Given the description of an element on the screen output the (x, y) to click on. 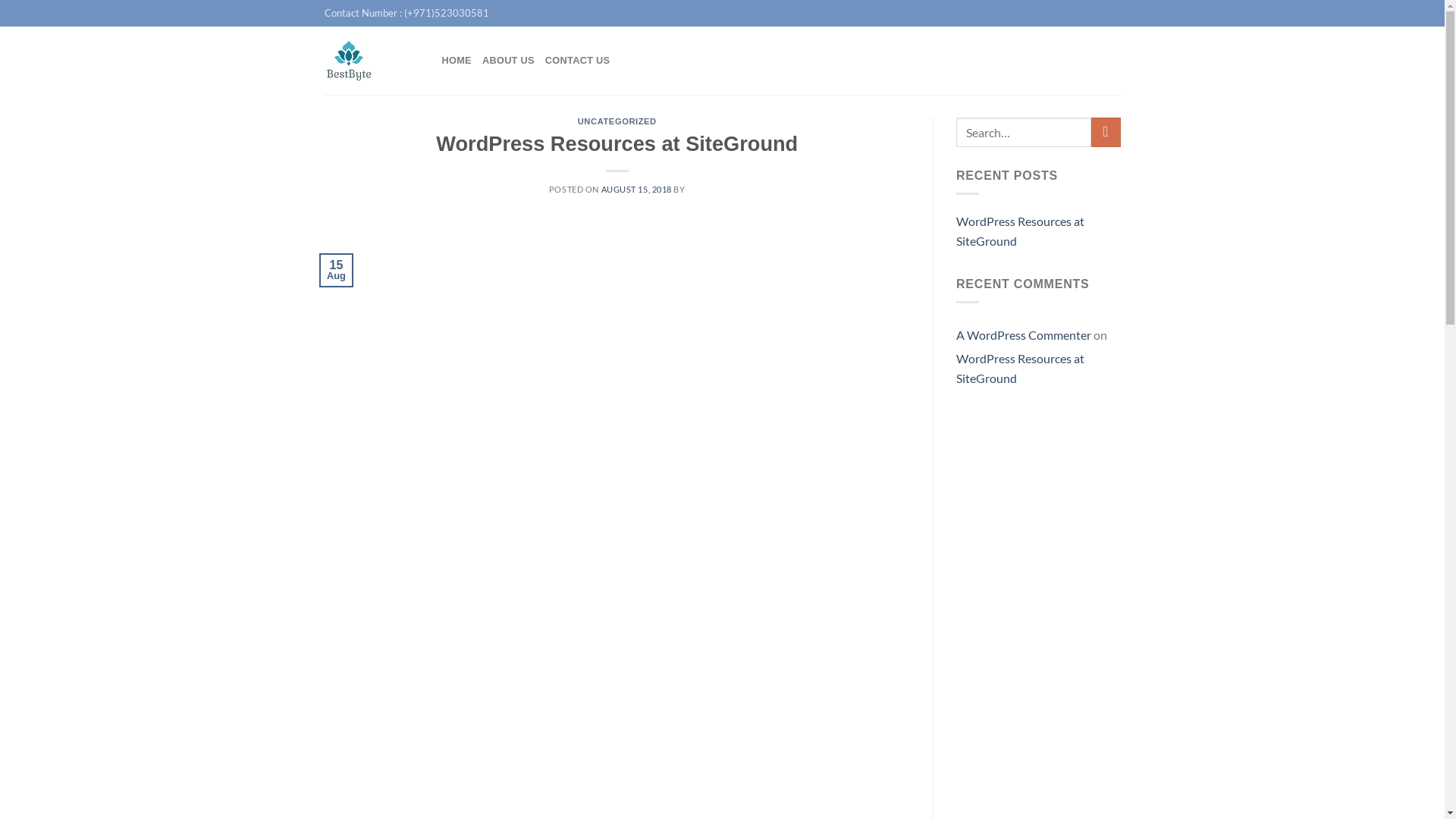
Contact Number : (+971)523030581 Element type: text (406, 12)
UNCATEGORIZED Element type: text (616, 120)
CONTACT US Element type: text (577, 60)
WordPress Resources at SiteGround Element type: text (1020, 367)
bestbyte canada - bestbyte canada Element type: hover (371, 60)
HOME Element type: text (455, 60)
ABOUT US Element type: text (508, 60)
AUGUST 15, 2018 Element type: text (635, 189)
WordPress Resources at SiteGround Element type: text (1038, 230)
A WordPress Commenter Element type: text (1023, 334)
